Given the description of an element on the screen output the (x, y) to click on. 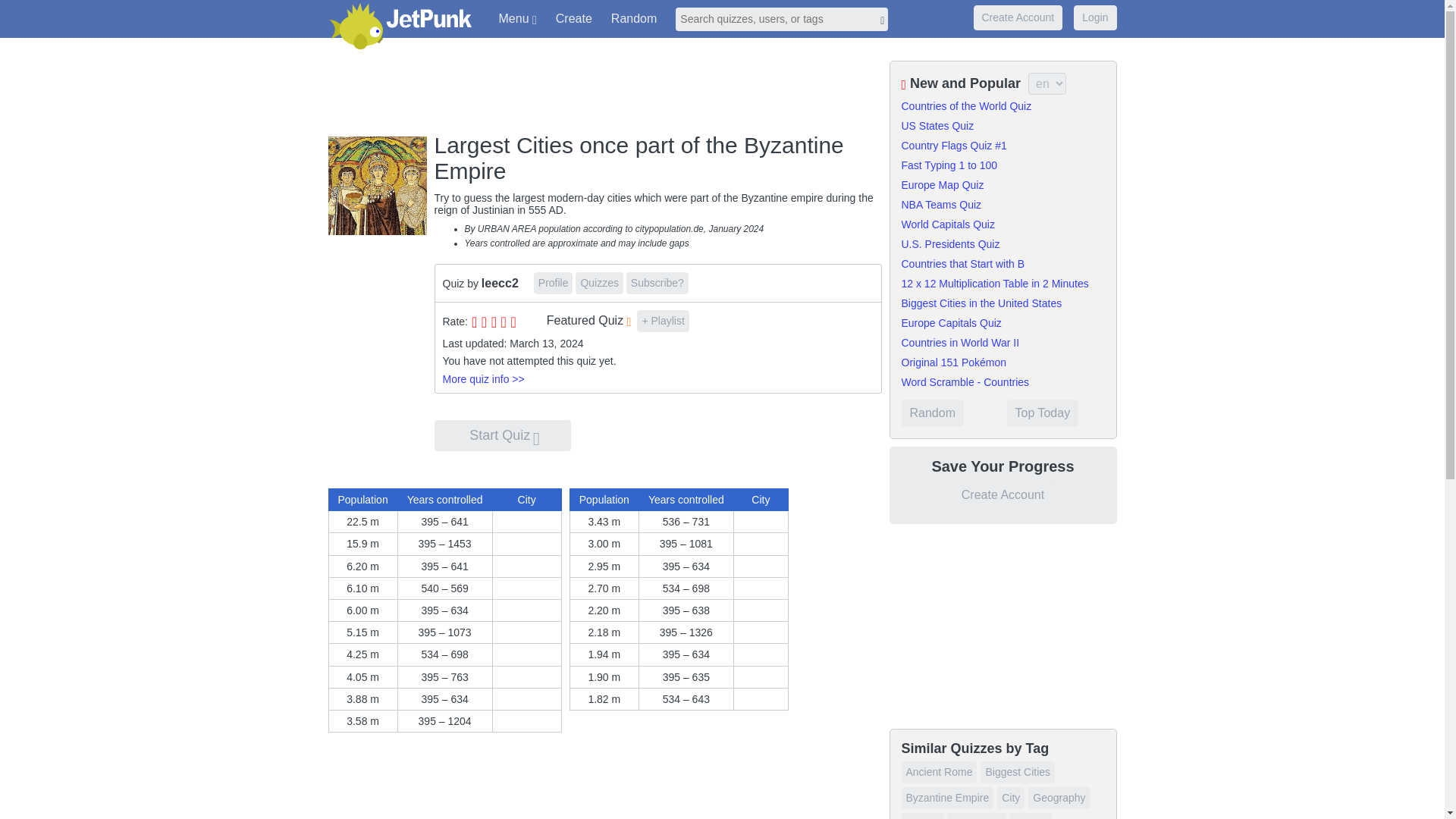
Create (573, 18)
Create Account (1018, 18)
Search (781, 19)
Random (633, 18)
Login (1095, 18)
Create Account (1018, 16)
Login (1095, 16)
Random (634, 18)
Menu (517, 19)
Create (574, 18)
